Given the description of an element on the screen output the (x, y) to click on. 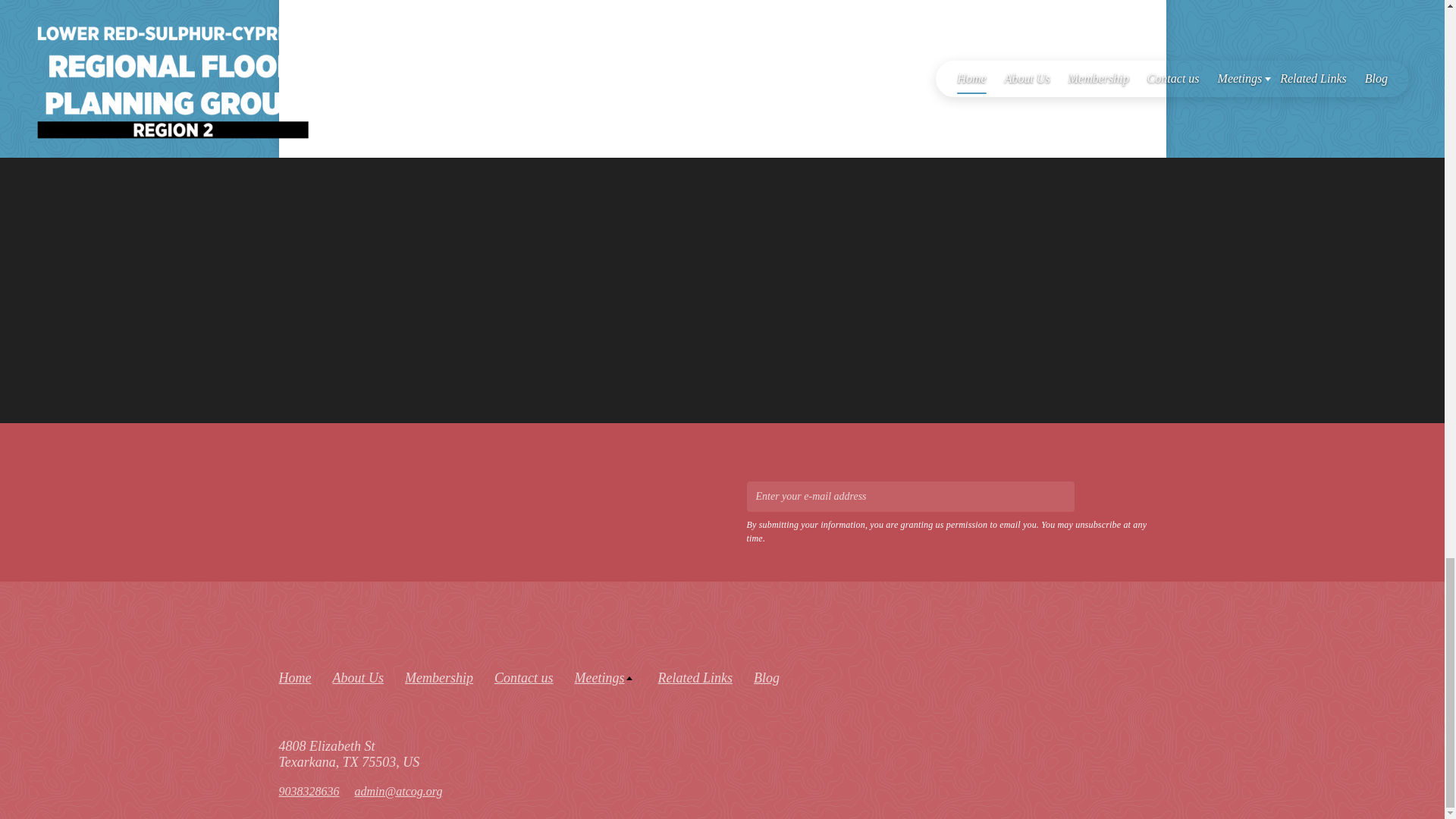
Contact us (524, 677)
Membership (438, 677)
About Us (357, 677)
Home (295, 677)
Meetings (606, 677)
